Given the description of an element on the screen output the (x, y) to click on. 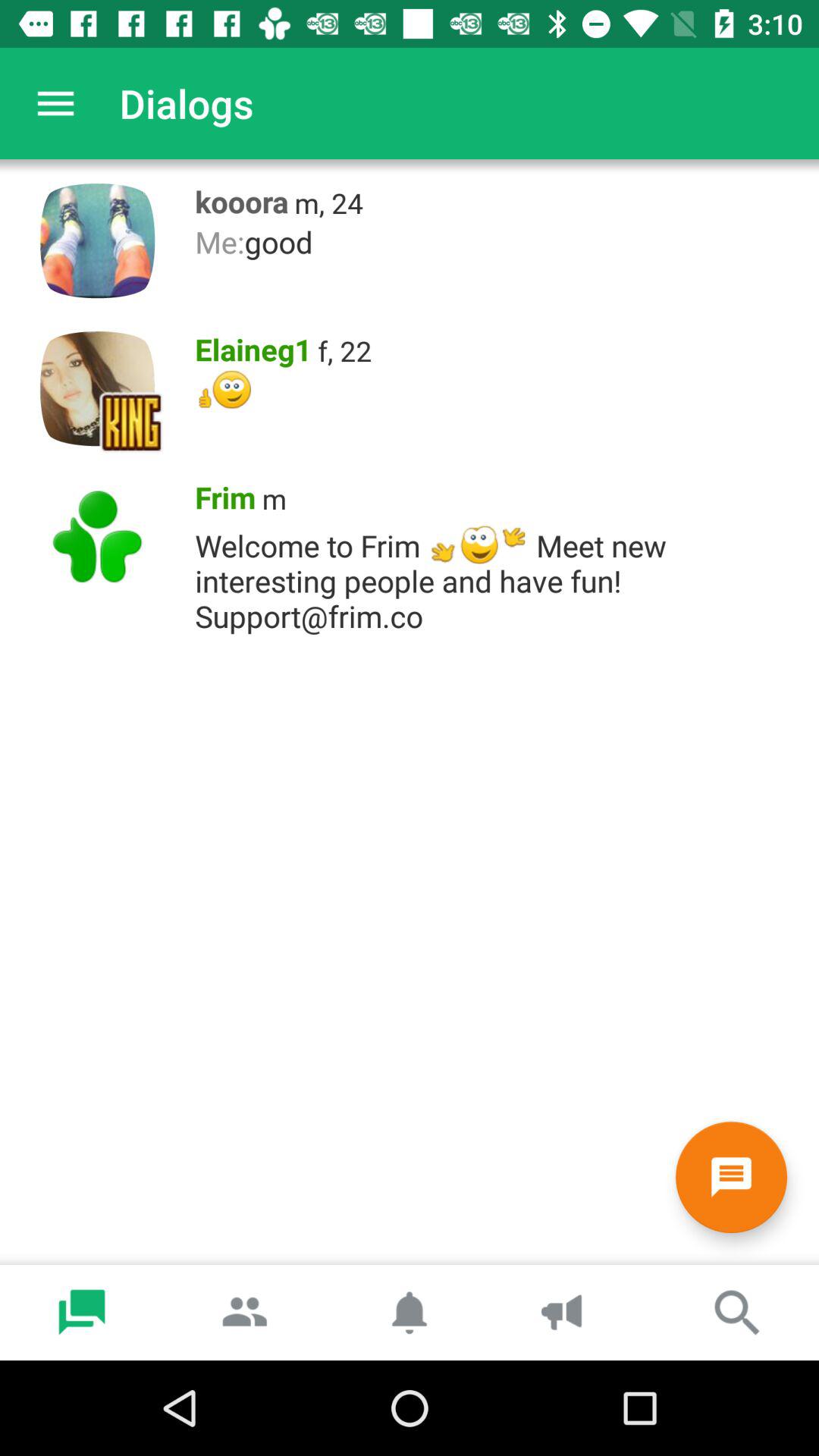
turn on the icon above the *t* icon (248, 346)
